Given the description of an element on the screen output the (x, y) to click on. 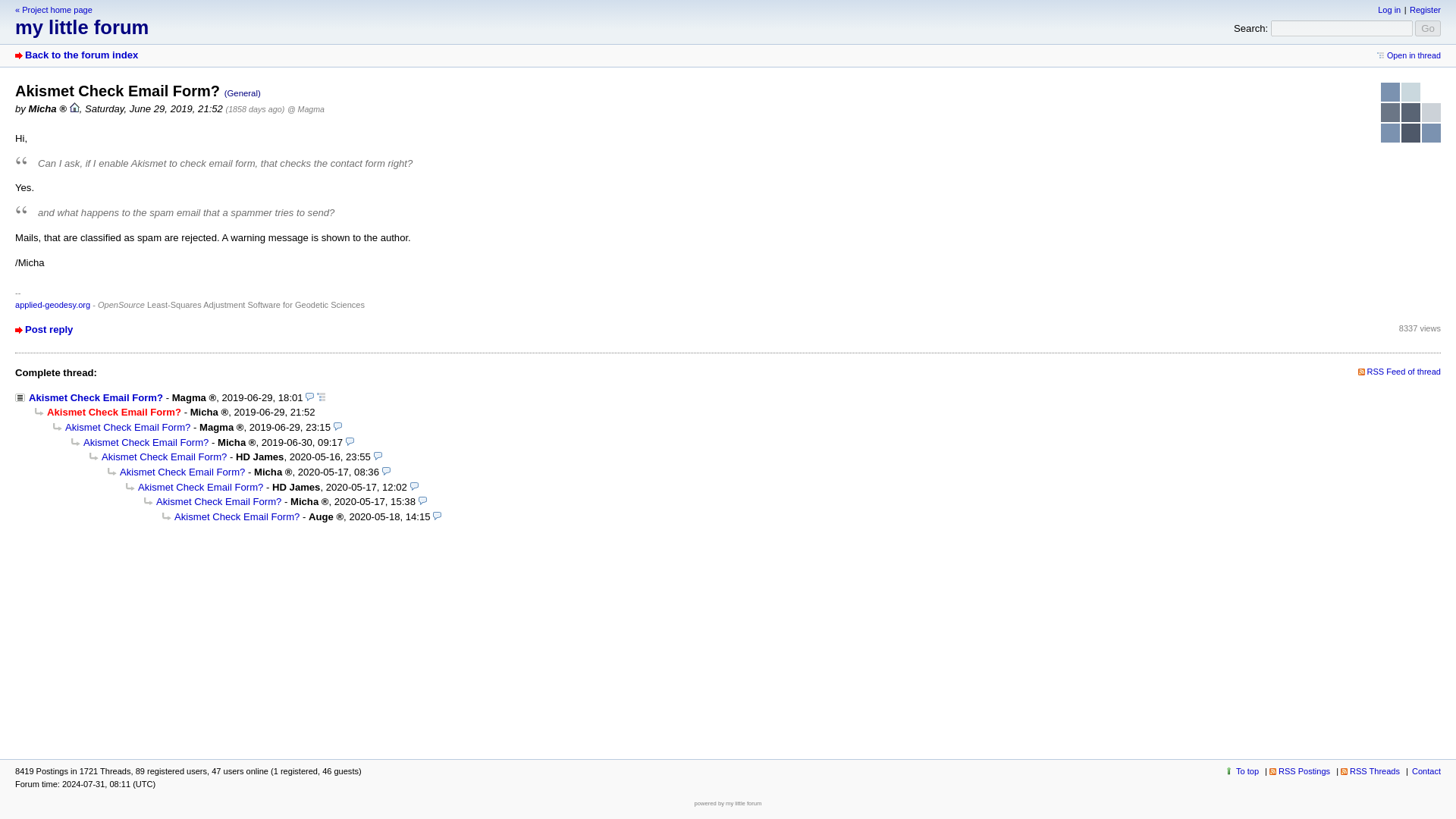
Akismet Check Email Form? (212, 501)
Log in (1388, 9)
Search messages (1337, 28)
Register as new user (1425, 9)
Go (1428, 28)
Register (1425, 9)
Back to the forum index (76, 54)
Show this posting in the complete thread (1409, 54)
RSS Feed of this thread (1398, 370)
Post reply (43, 328)
Akismet Check Email Form? (88, 397)
Reply to this message (43, 328)
To top (1241, 770)
Forum index page (76, 54)
RSS Feed of thread (1398, 370)
